Given the description of an element on the screen output the (x, y) to click on. 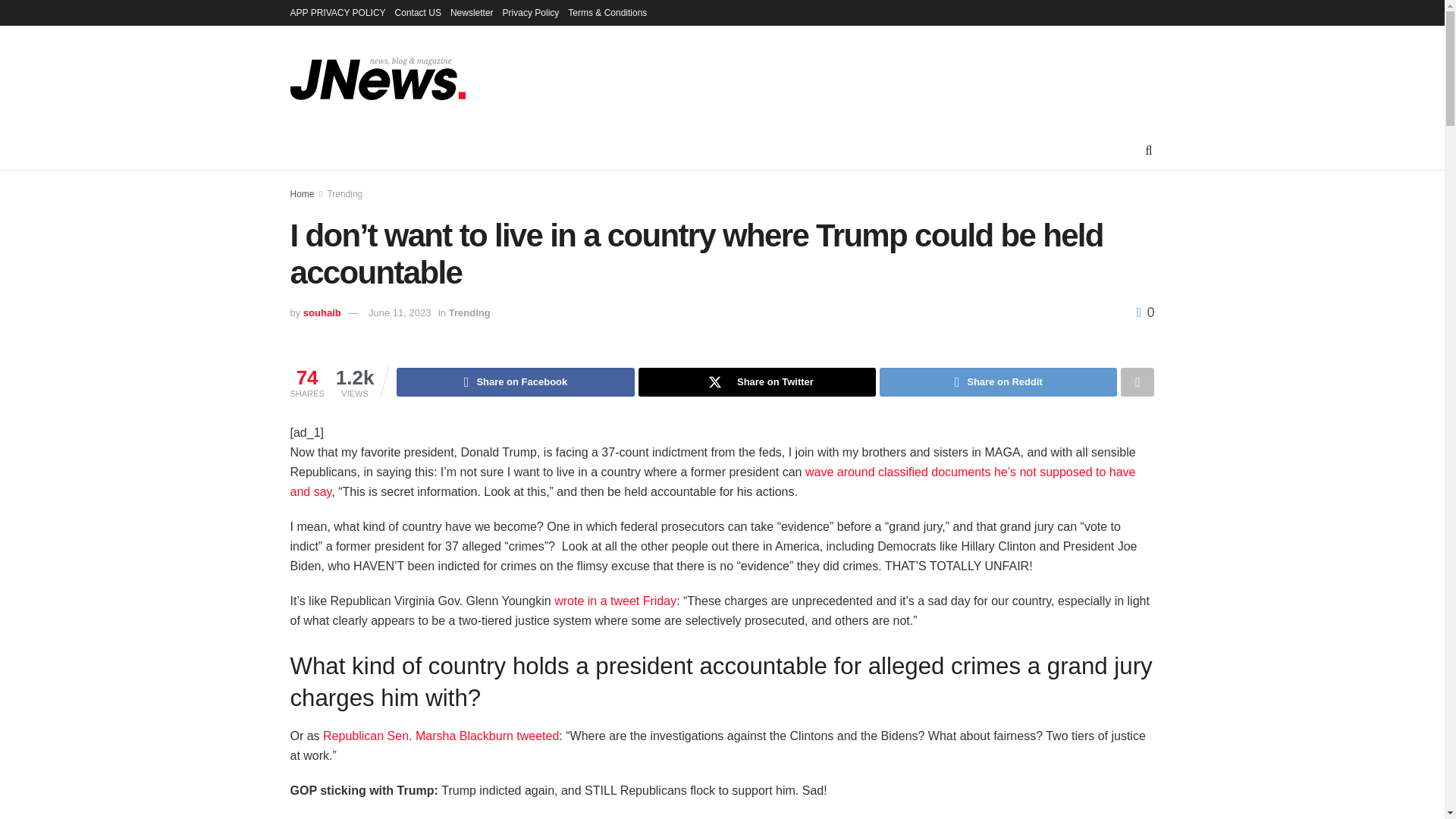
wrote in a tweet Friday (615, 600)
Share on Twitter (757, 381)
Newsletter (471, 12)
APP PRIVACY POLICY (337, 12)
Republican Sen. Marsha Blackburn tweeted (441, 735)
Trending (344, 194)
Contact US (417, 12)
Privacy Policy (530, 12)
Share on Reddit (997, 381)
souhaib (321, 312)
